Given the description of an element on the screen output the (x, y) to click on. 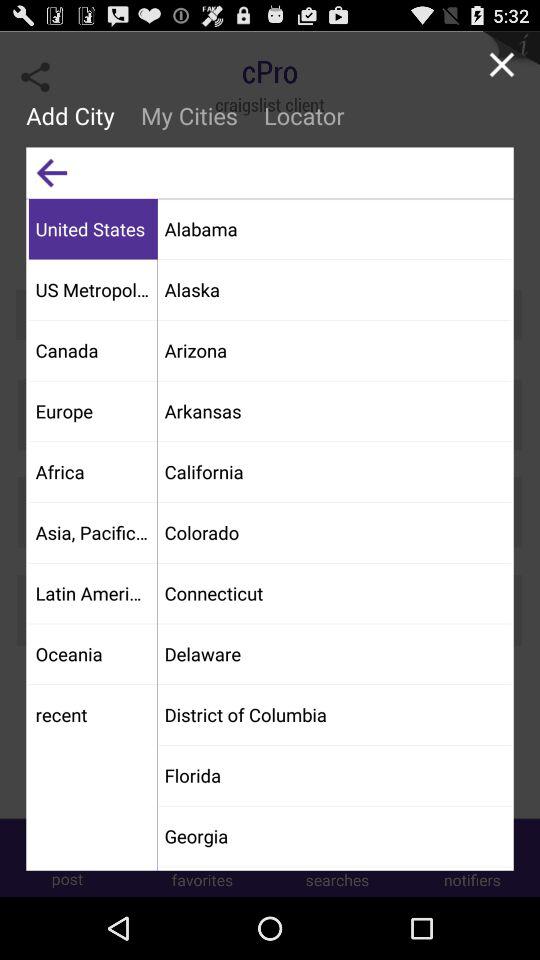
tap app above alaska (334, 228)
